Given the description of an element on the screen output the (x, y) to click on. 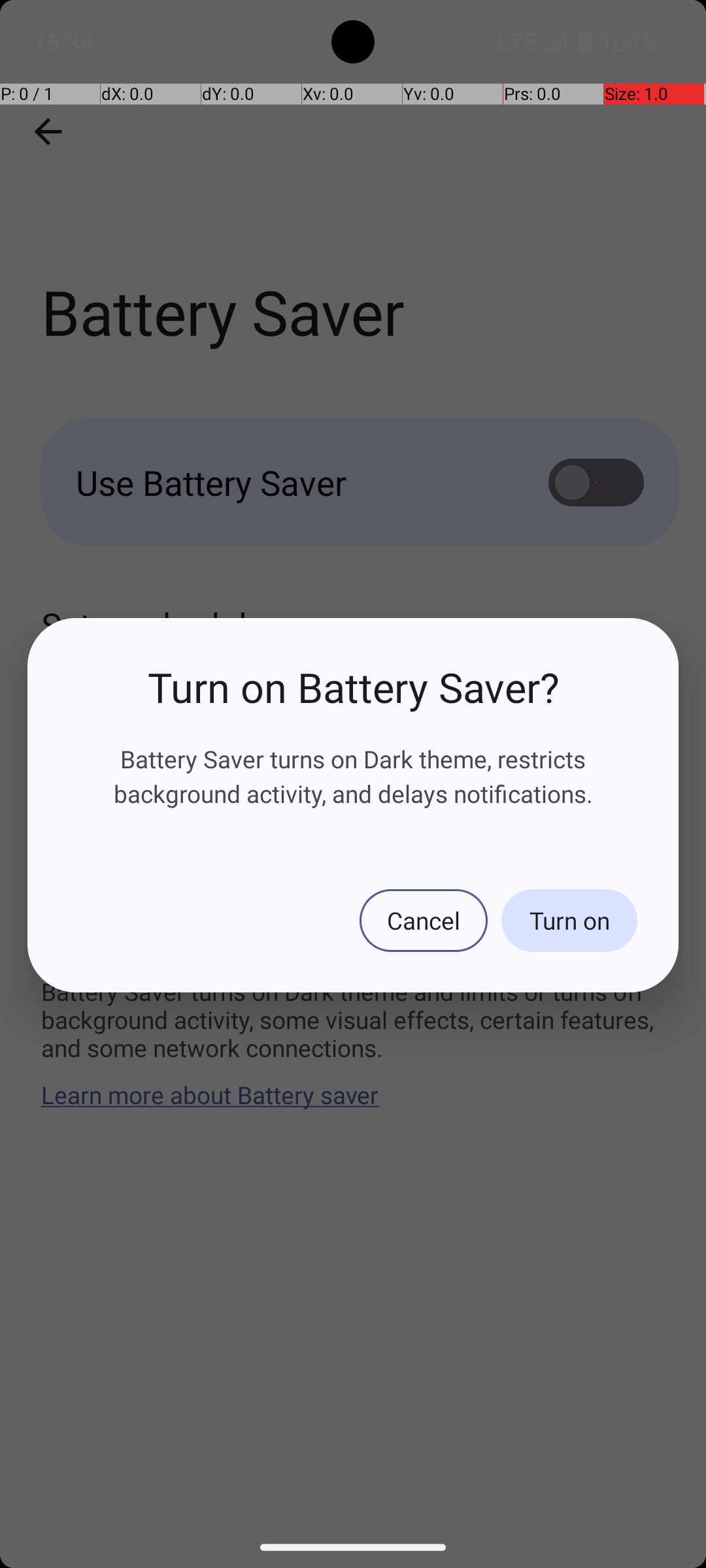
Turn on Battery Saver? Element type: android.widget.TextView (352, 686)
Battery Saver turns on Dark theme, restricts background activity, and delays notifications. Element type: android.widget.TextView (352, 776)
Turn on Element type: android.widget.Button (569, 920)
